Given the description of an element on the screen output the (x, y) to click on. 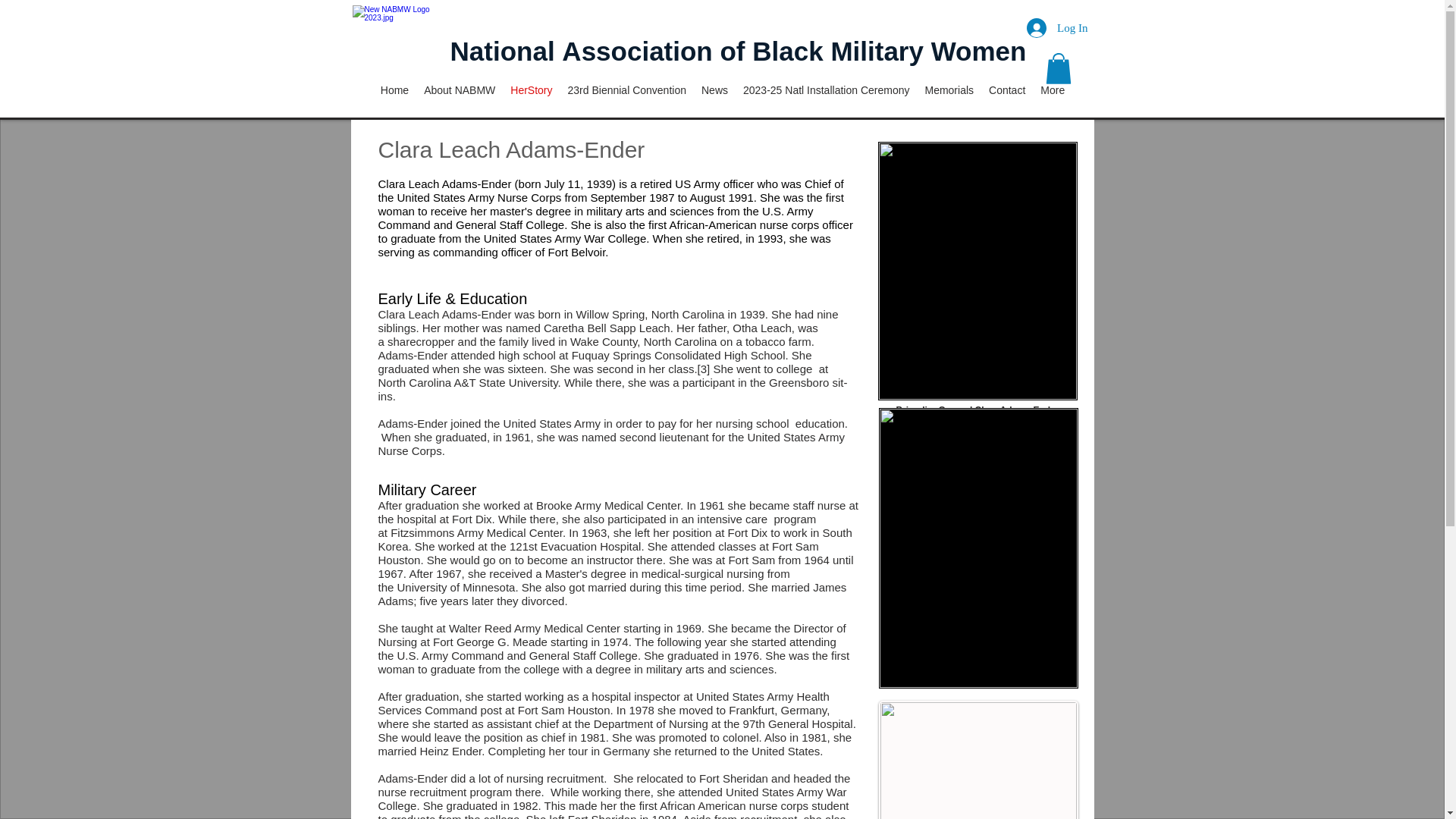
Walter Reed Army Medical Center (534, 627)
divorced (542, 600)
medical-surgical nursing (703, 573)
sharecropper (420, 341)
tobacco (765, 341)
hospital (610, 696)
African-American (713, 224)
college (794, 368)
United States Army (551, 422)
Fort Dix (471, 518)
U.S. Army Command and General Staff College (517, 655)
United States Army Health Services Command (602, 703)
United States Army War College (564, 237)
high school (526, 354)
Fort Belvoir (576, 251)
